Given the description of an element on the screen output the (x, y) to click on. 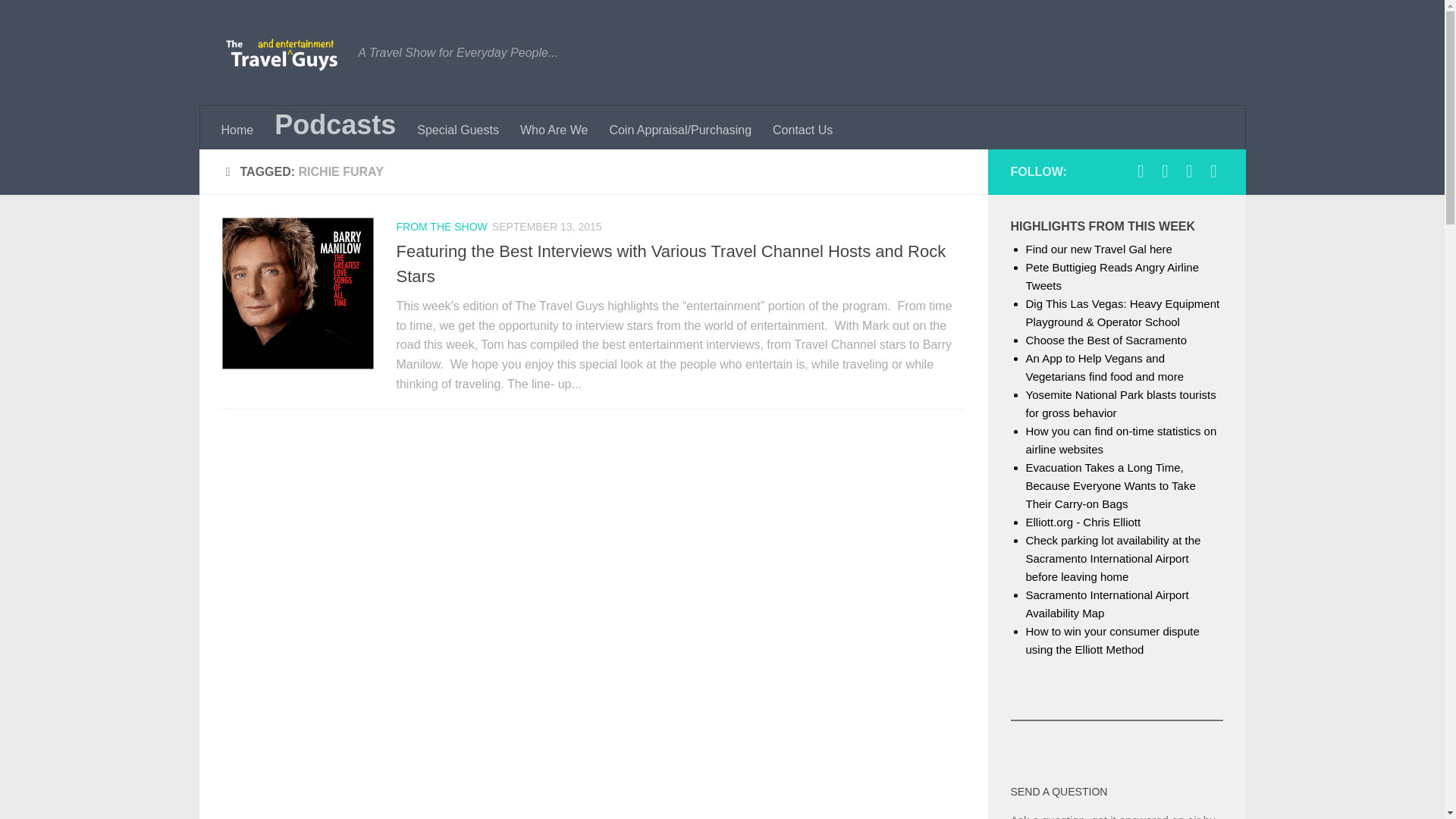
Skip to content (63, 20)
Sports Leisure Blog (1164, 171)
How to win your consumer dispute using the Elliott Method (1111, 640)
An App to Help Vegans and Vegetarians find food and more (1103, 367)
Podcasts (334, 125)
Choose the Best of Sacramento (1105, 339)
Facebook (1140, 171)
Podcast RSS Feed (1213, 171)
